Given the description of an element on the screen output the (x, y) to click on. 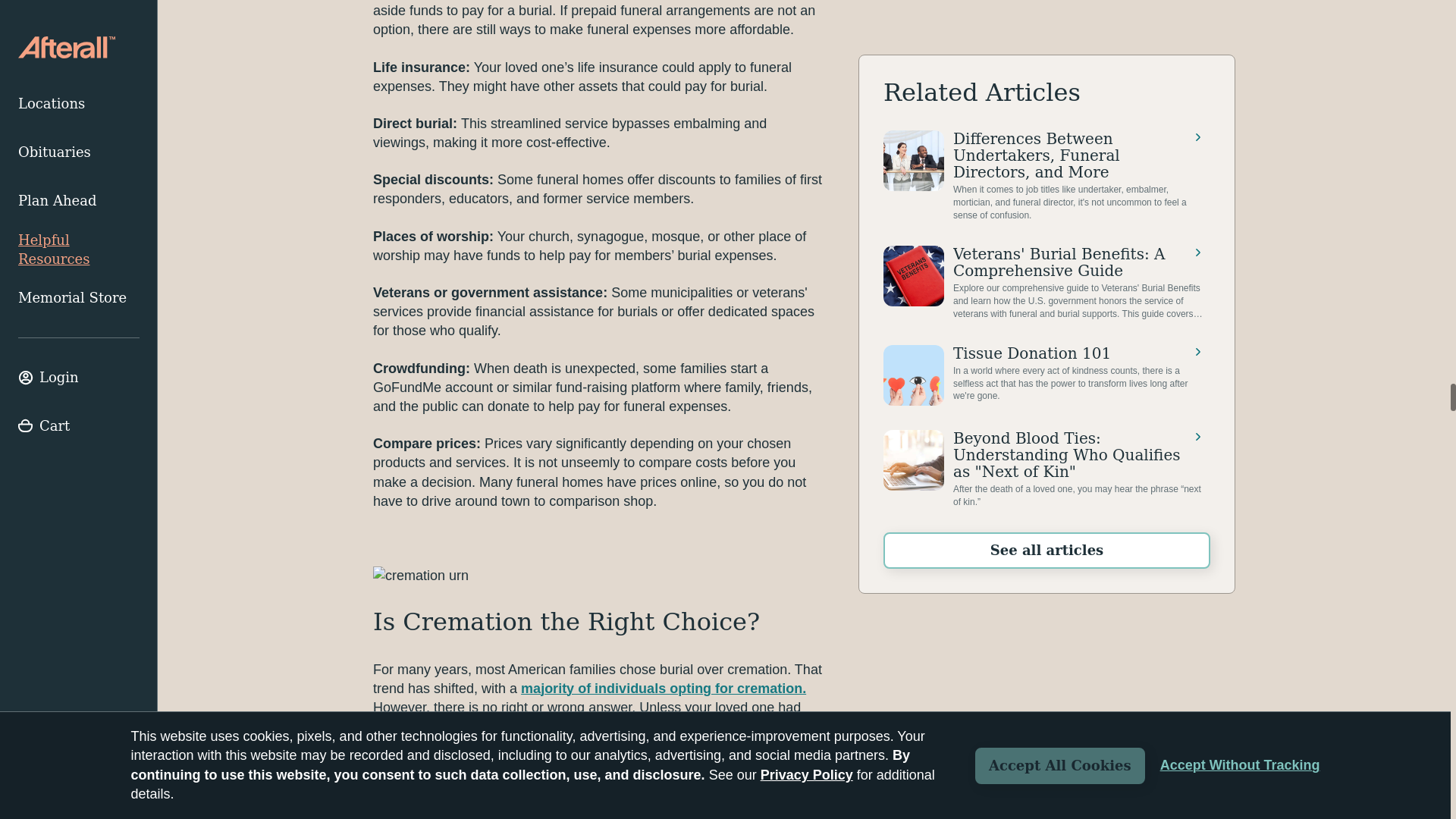
majority of individuals opting for cremation. (663, 688)
